Given the description of an element on the screen output the (x, y) to click on. 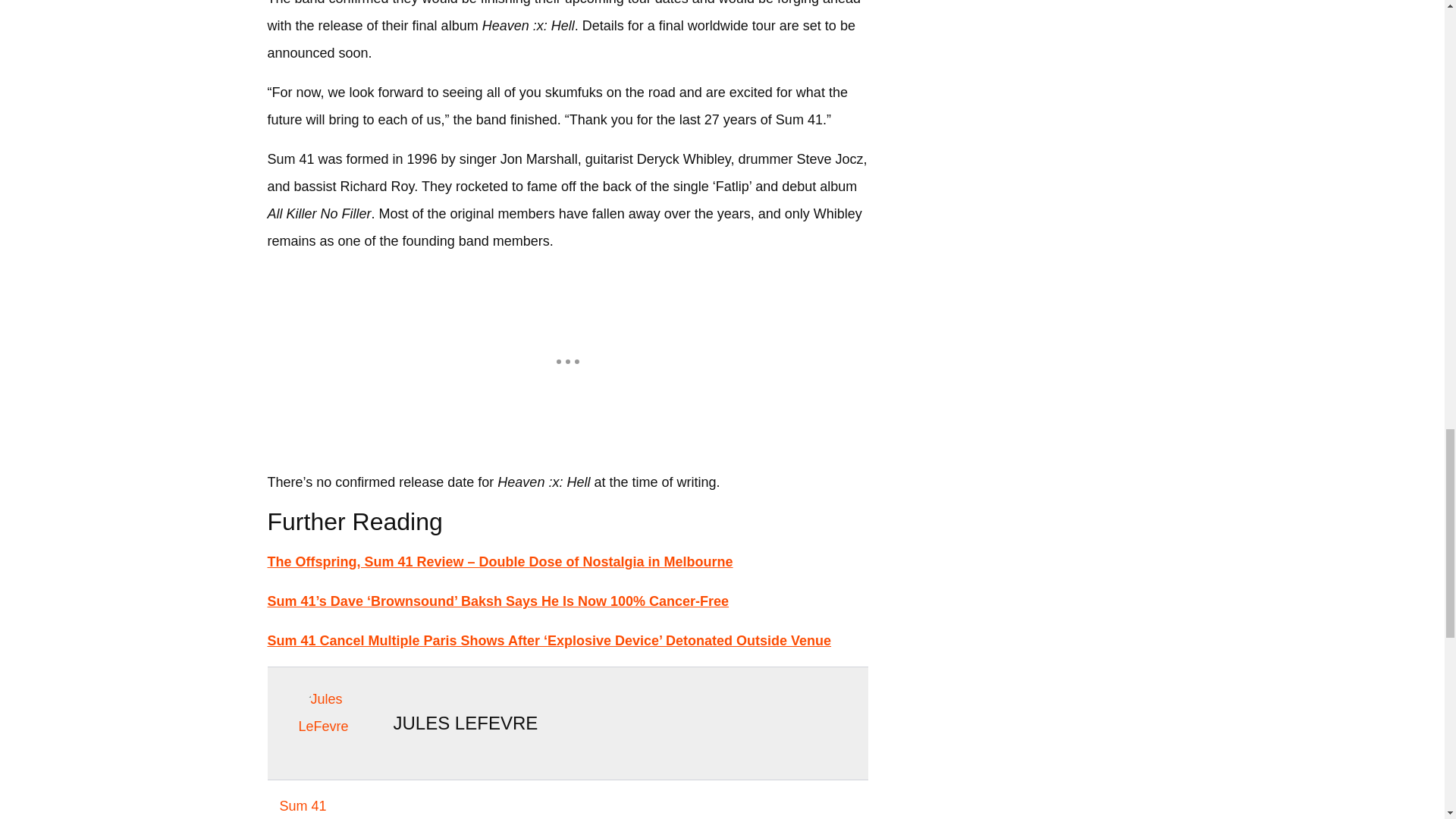
Sum 41 (301, 805)
JULES LEFEVRE (465, 722)
